Given the description of an element on the screen output the (x, y) to click on. 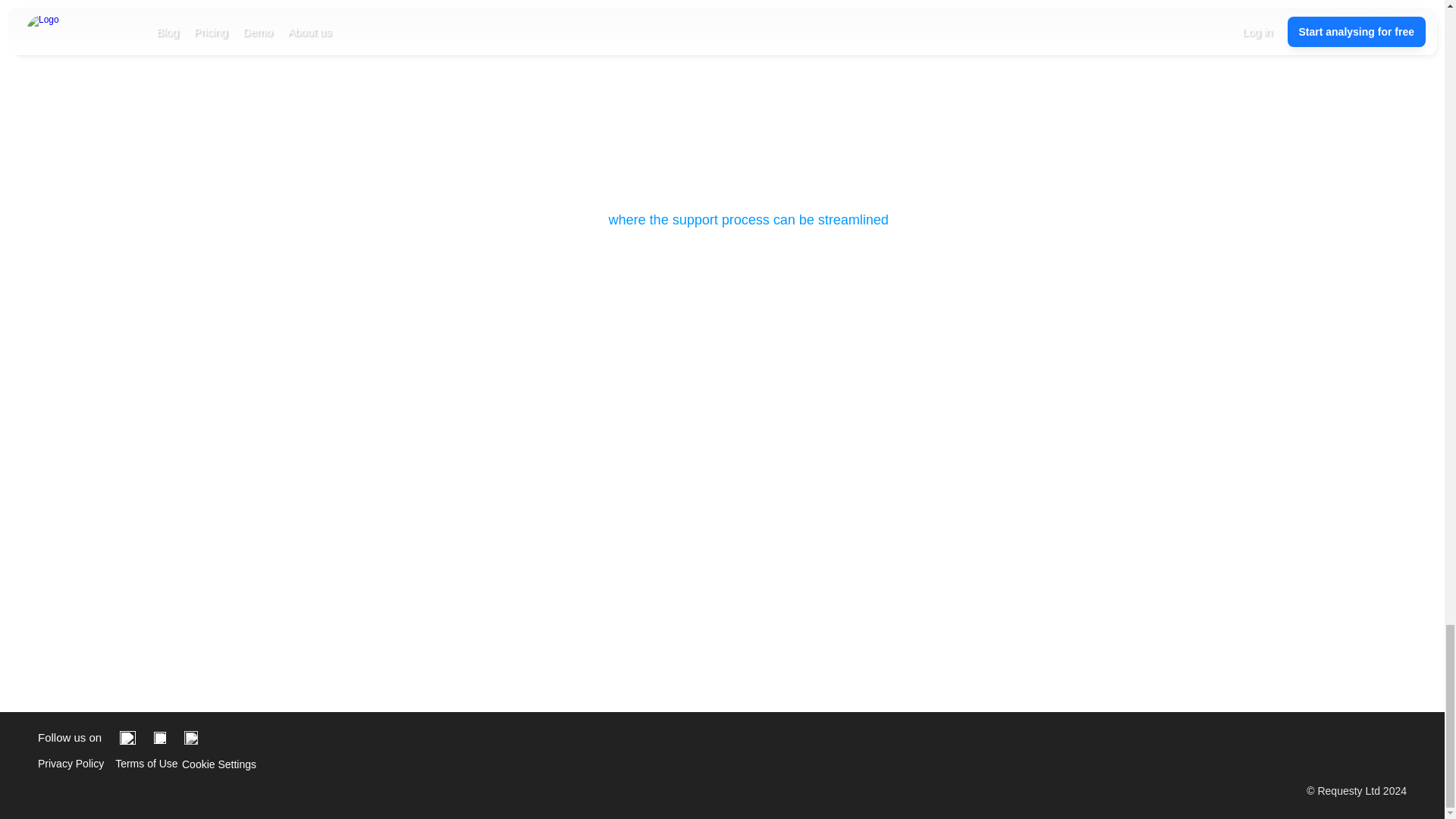
Cookie Settings (219, 764)
Privacy Policy (70, 763)
where the support process can be streamlined (748, 219)
Terms of Use (146, 763)
